Given the description of an element on the screen output the (x, y) to click on. 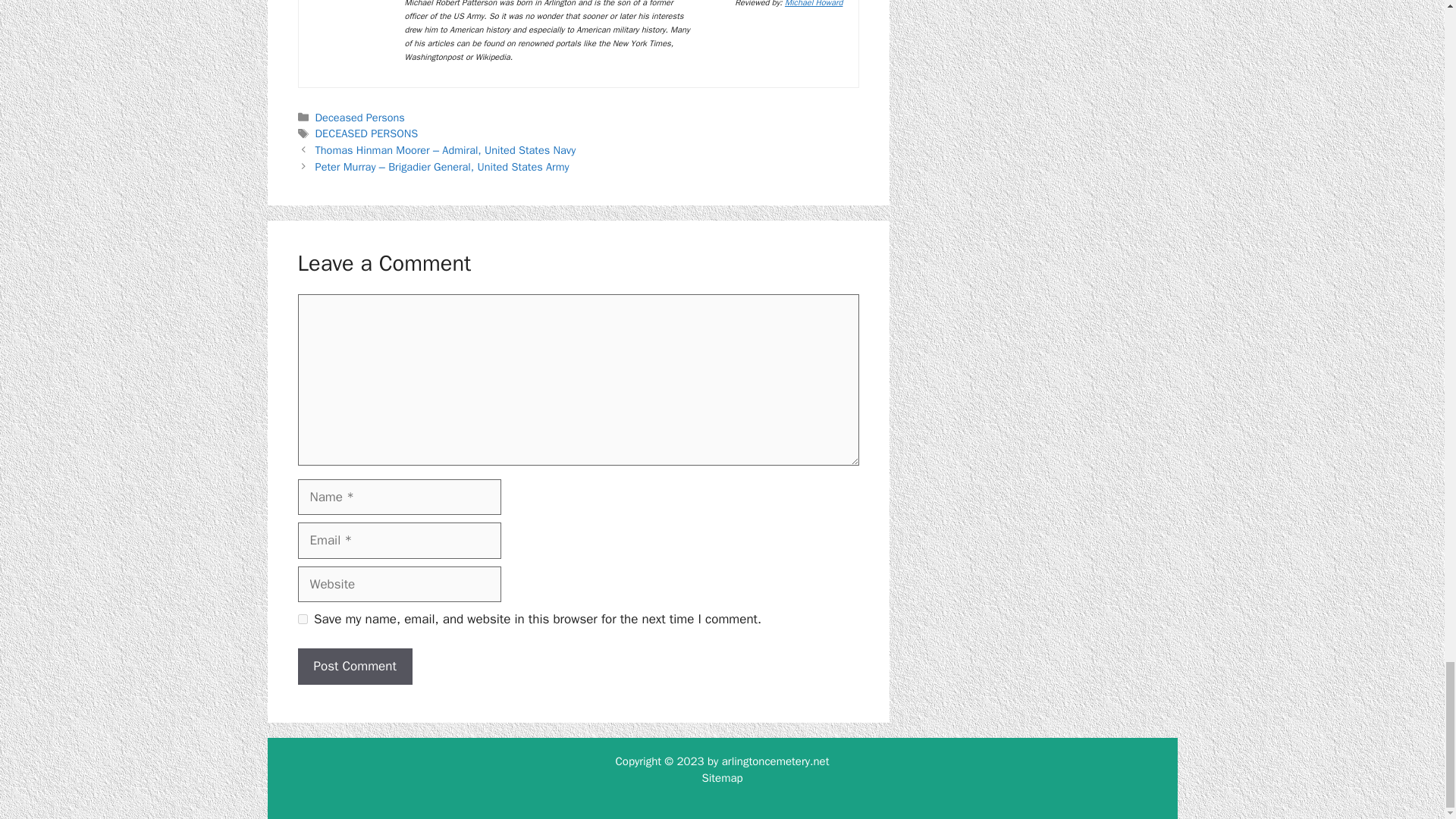
yes (302, 619)
Post Comment (354, 666)
